Given the description of an element on the screen output the (x, y) to click on. 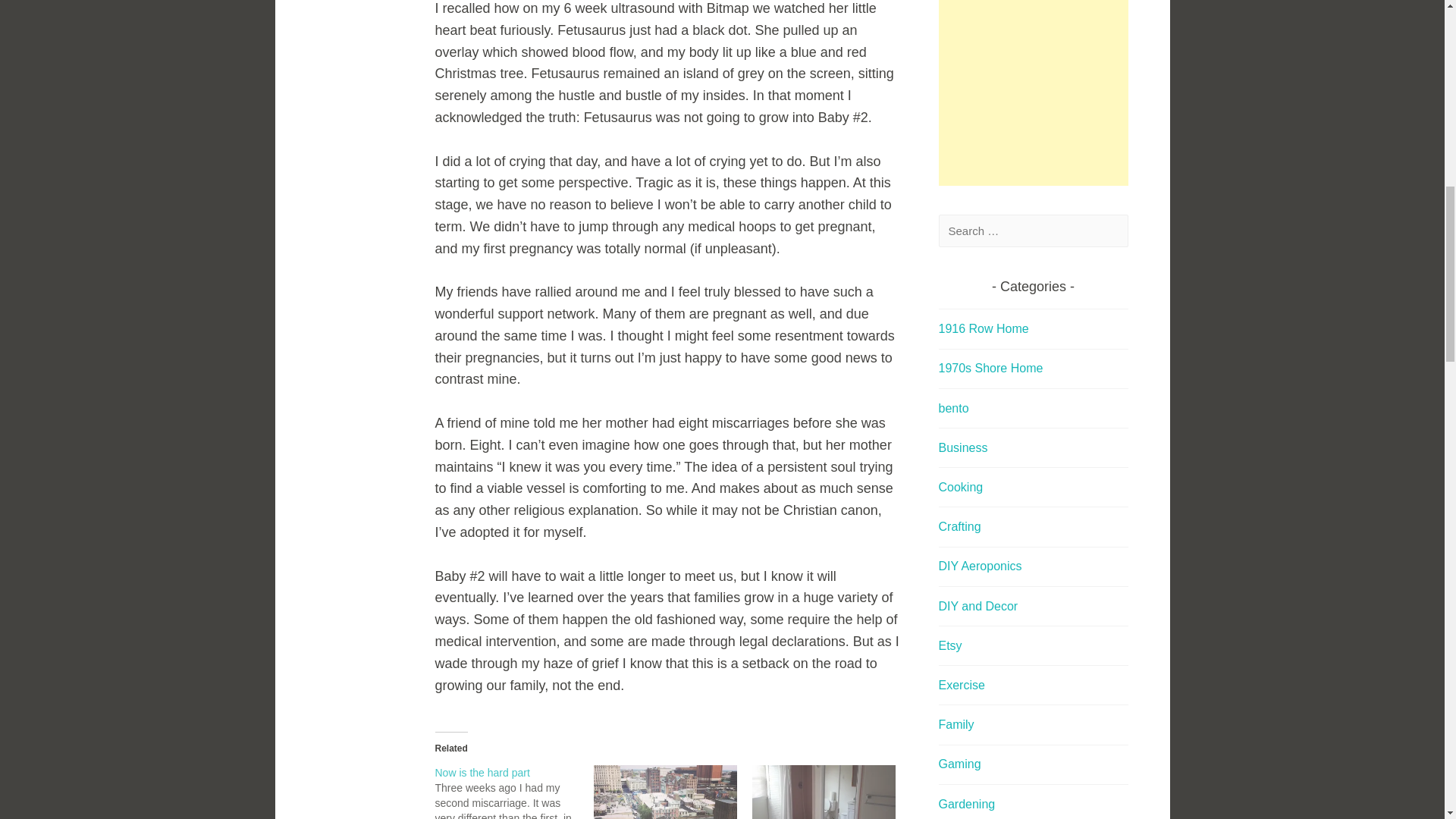
1970s Shore Home (991, 367)
Bathroom Remodel Ahoy! (823, 791)
Now is the hard part (482, 772)
Advertisement (1033, 92)
Cooking (961, 486)
1916 Row Home (984, 328)
Now is the hard part (514, 791)
Business (963, 447)
Now is the hard part (482, 772)
Some quick feelings (665, 791)
bento (954, 408)
